Given the description of an element on the screen output the (x, y) to click on. 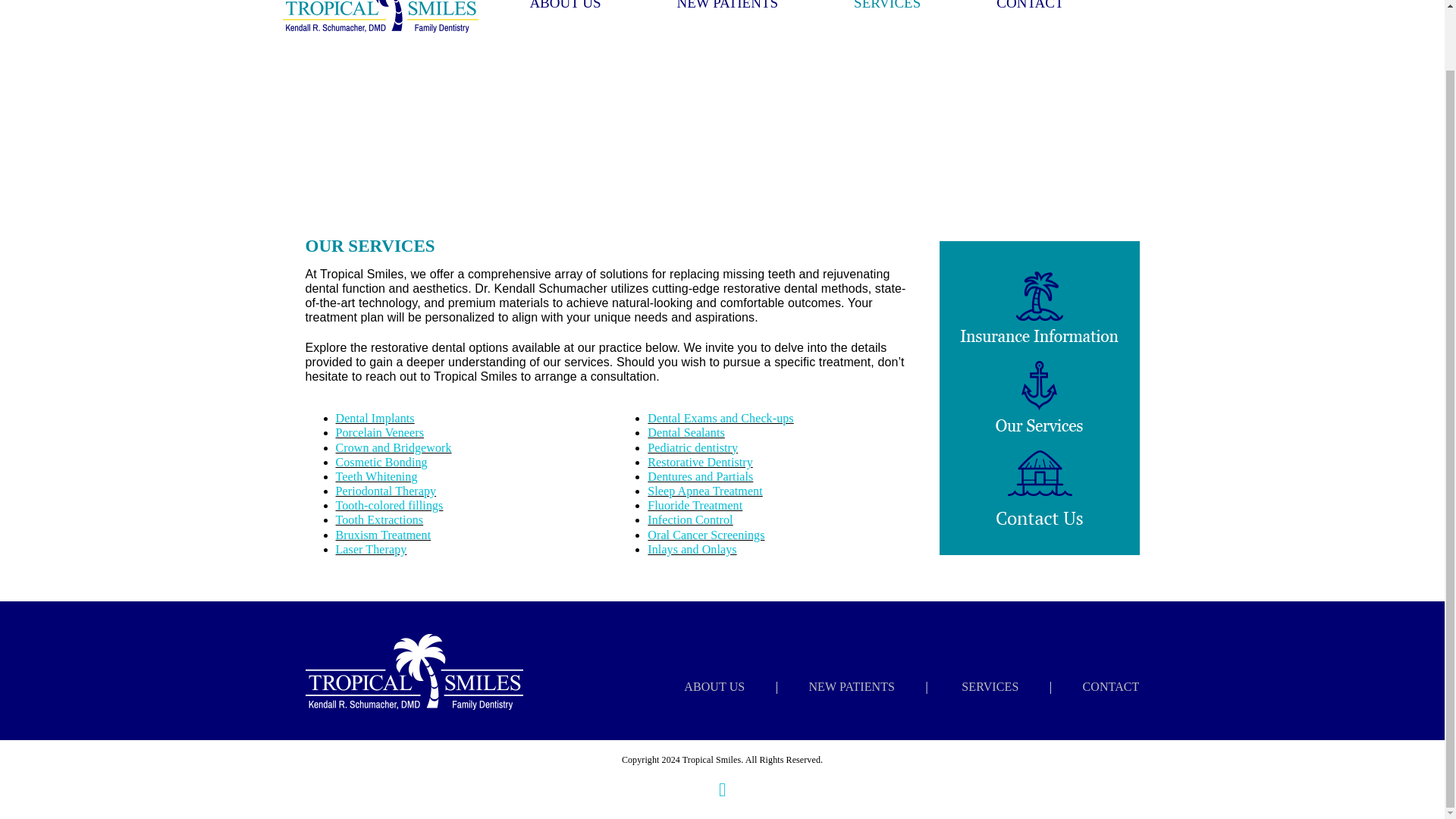
Laser Therapy (370, 549)
Dental Implants (373, 418)
CONTACT (1028, 23)
ABOUT US (564, 23)
SERVICES (886, 23)
Crown and Bridgework (392, 446)
Porcelain Veneers (378, 431)
Periodontal Therapy (384, 490)
Cosmetic Bonding (380, 461)
Teeth Whitening (375, 476)
NEW PATIENTS (727, 23)
Tooth Extractions (378, 519)
Bruxism Treatment (382, 534)
Tooth-colored fillings (388, 504)
Dental Exams and Check-ups (720, 418)
